Given the description of an element on the screen output the (x, y) to click on. 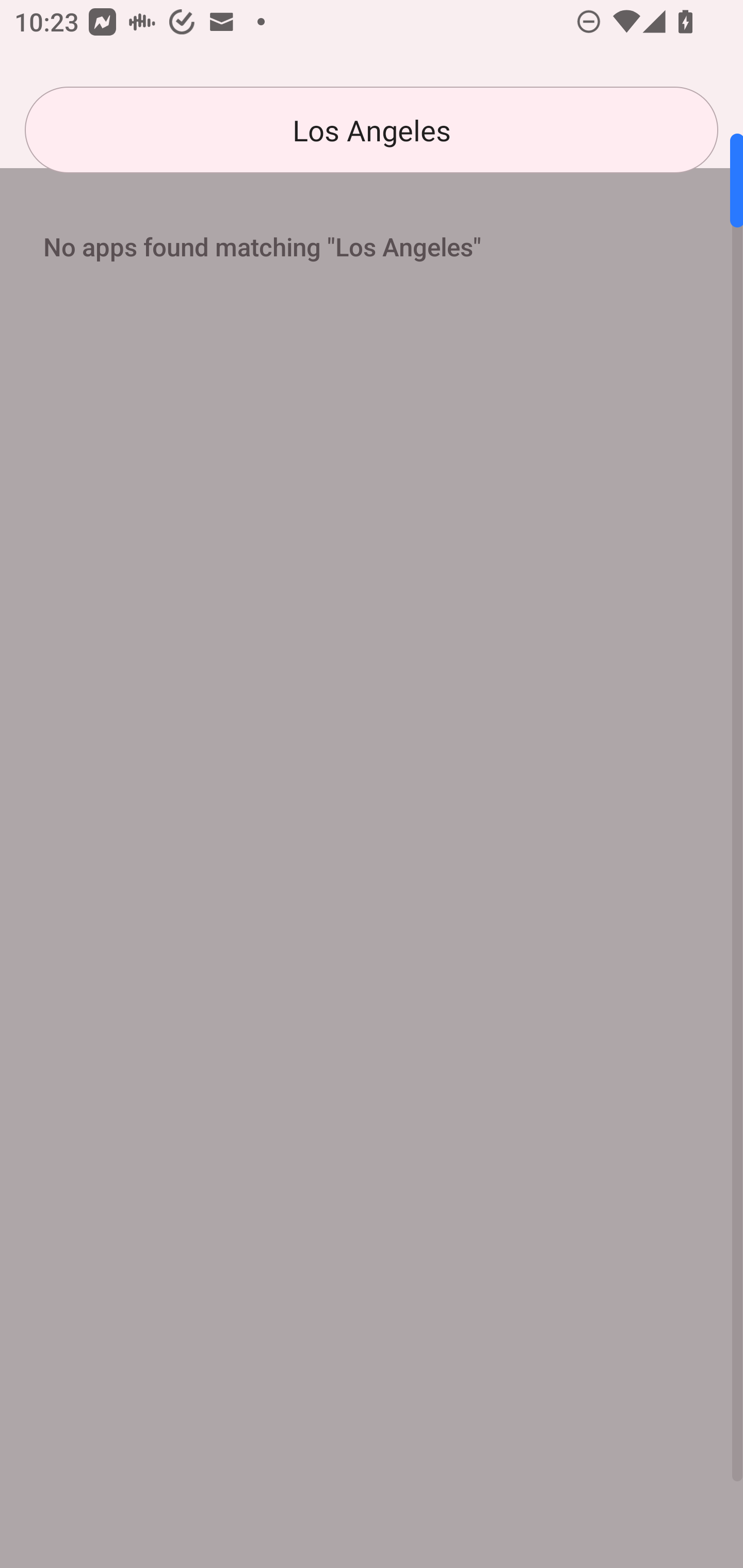
Los Angeles (371, 130)
